Given the description of an element on the screen output the (x, y) to click on. 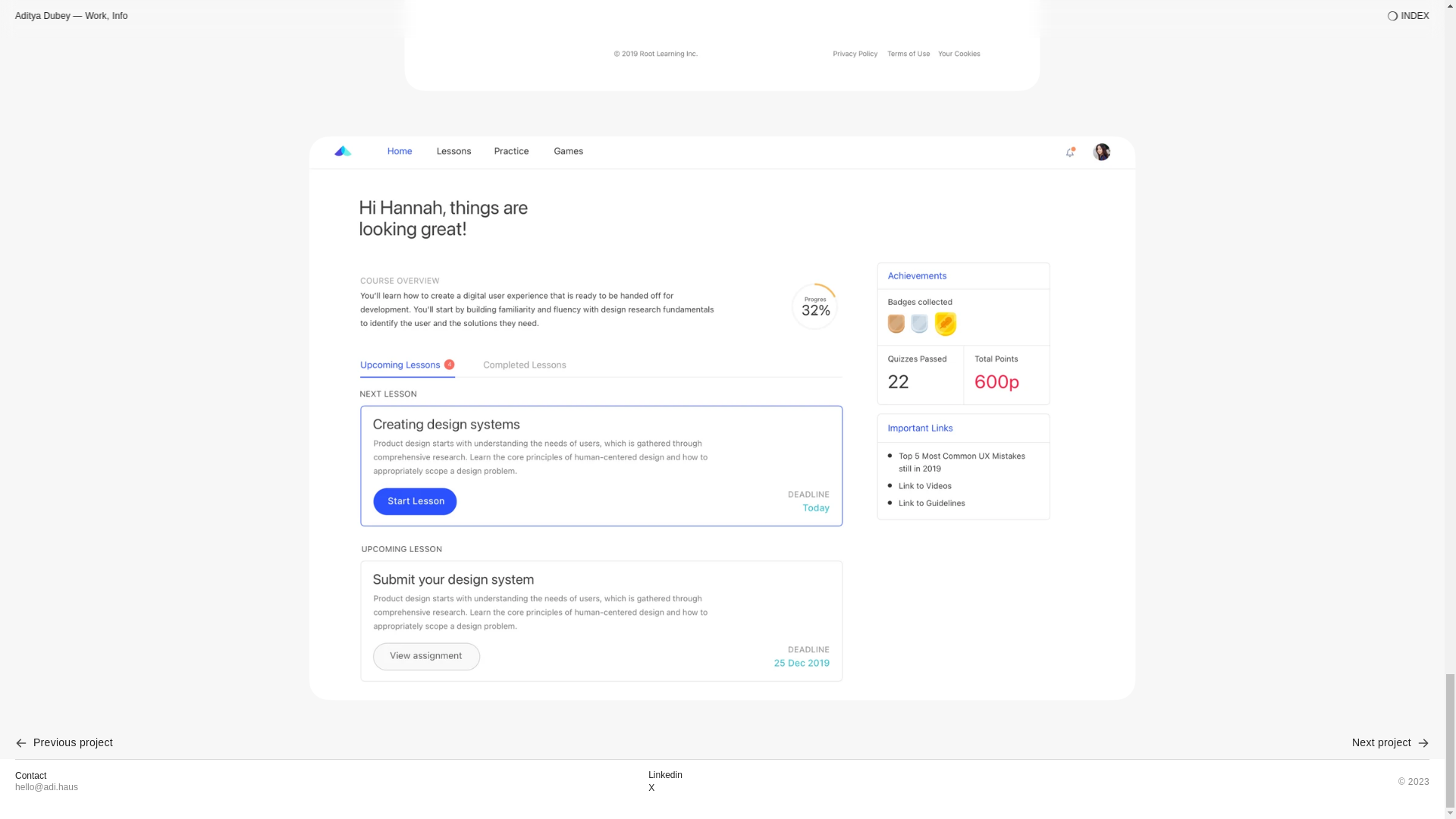
Previous project (683, 742)
Next project (1390, 742)
Linkedin (664, 774)
